Given the description of an element on the screen output the (x, y) to click on. 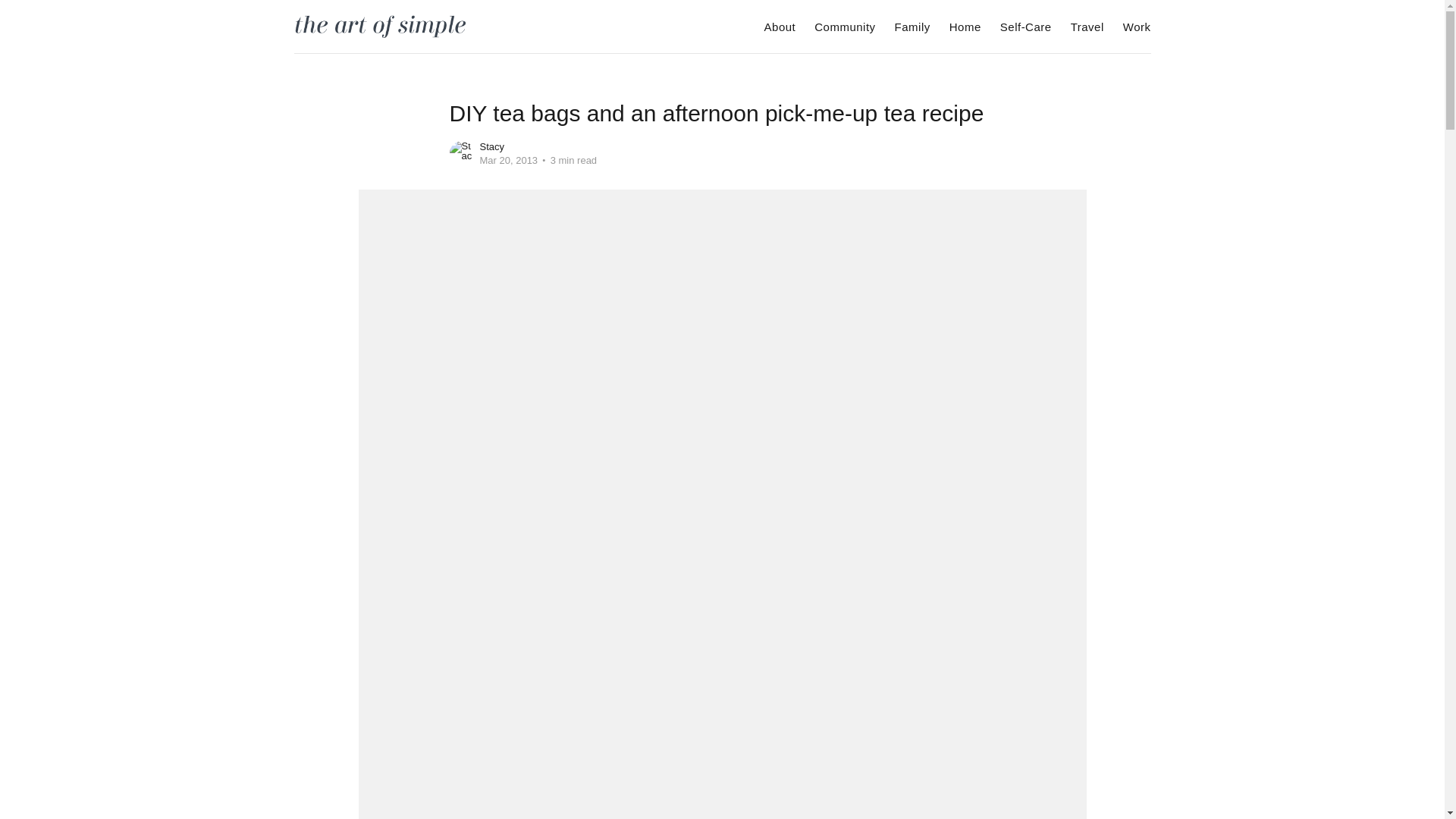
Self-Care (1025, 26)
Stacy (491, 146)
Work (1136, 26)
Home (965, 26)
Community (844, 26)
Family (912, 26)
About (780, 26)
Travel (1086, 26)
